Given the description of an element on the screen output the (x, y) to click on. 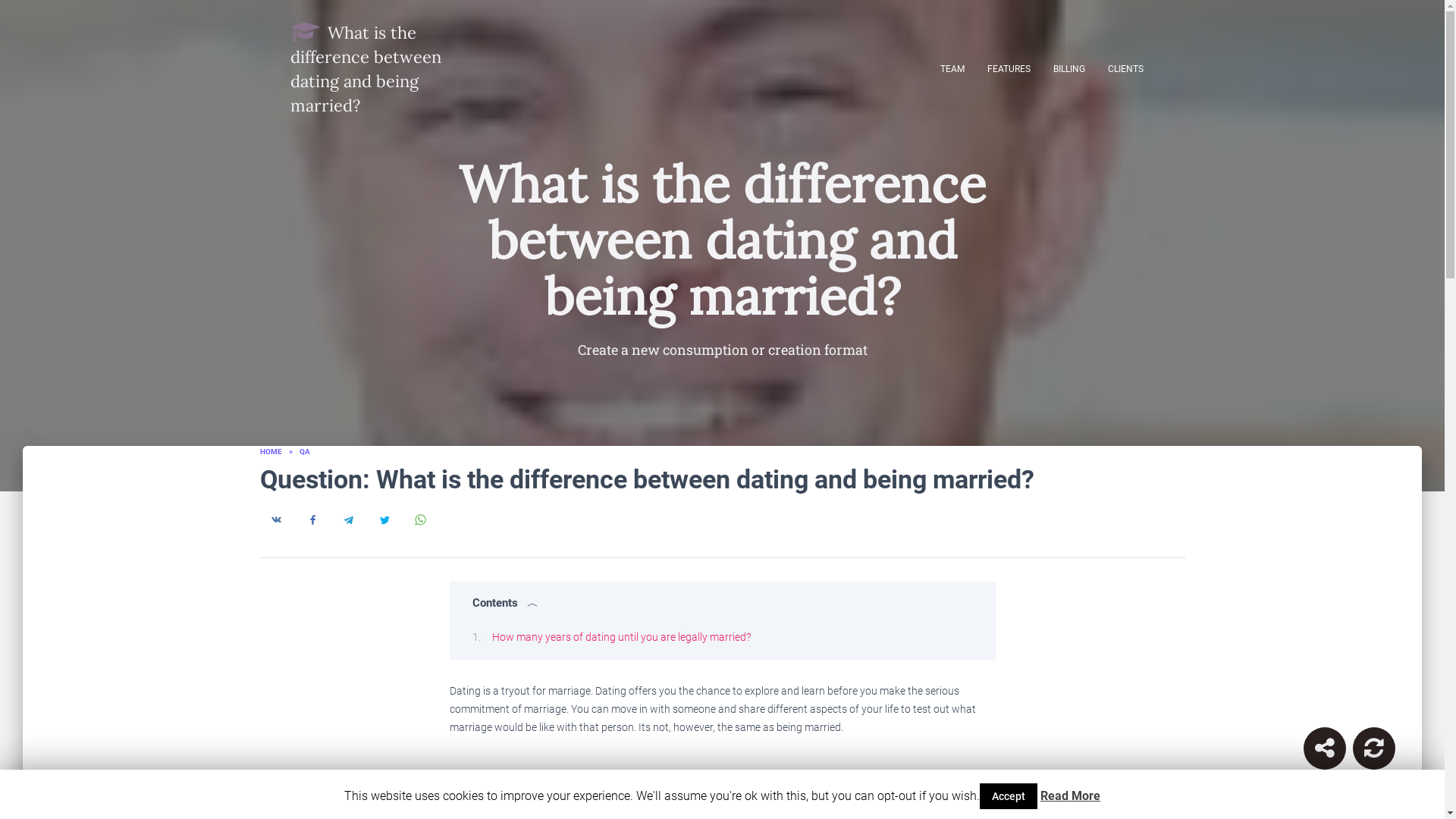
Read More (1070, 795)
What is the difference between dating and being married? (379, 67)
FEATURES (1008, 68)
What is the difference between dating and being married? (379, 67)
How many years of dating until you are legally married? (620, 636)
BILLING (1069, 68)
Share Startup (1324, 748)
Billing (1069, 68)
Clients (1125, 68)
Features (1008, 68)
